Given the description of an element on the screen output the (x, y) to click on. 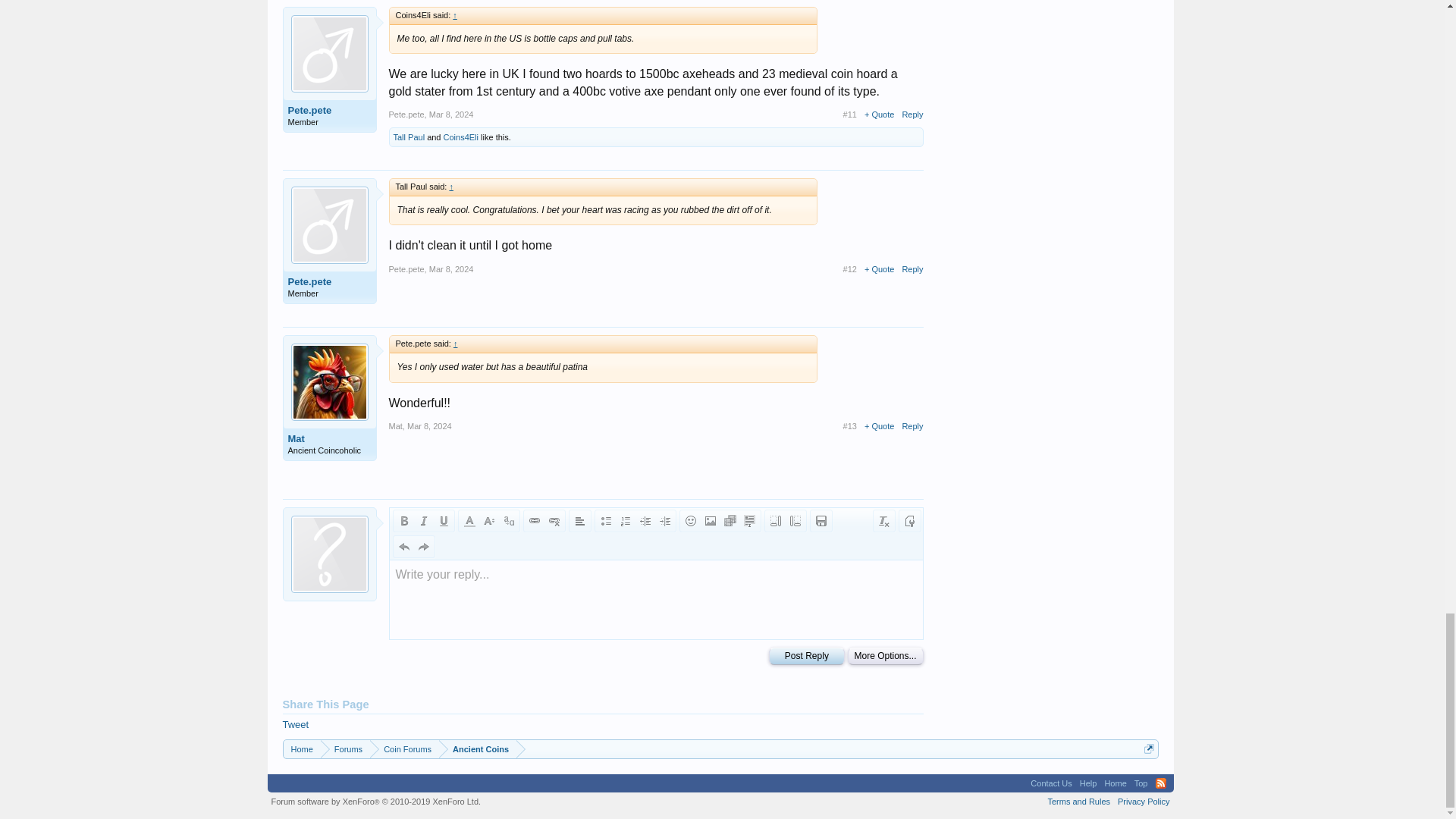
More Options... (885, 656)
Post Reply (806, 656)
